Given the description of an element on the screen output the (x, y) to click on. 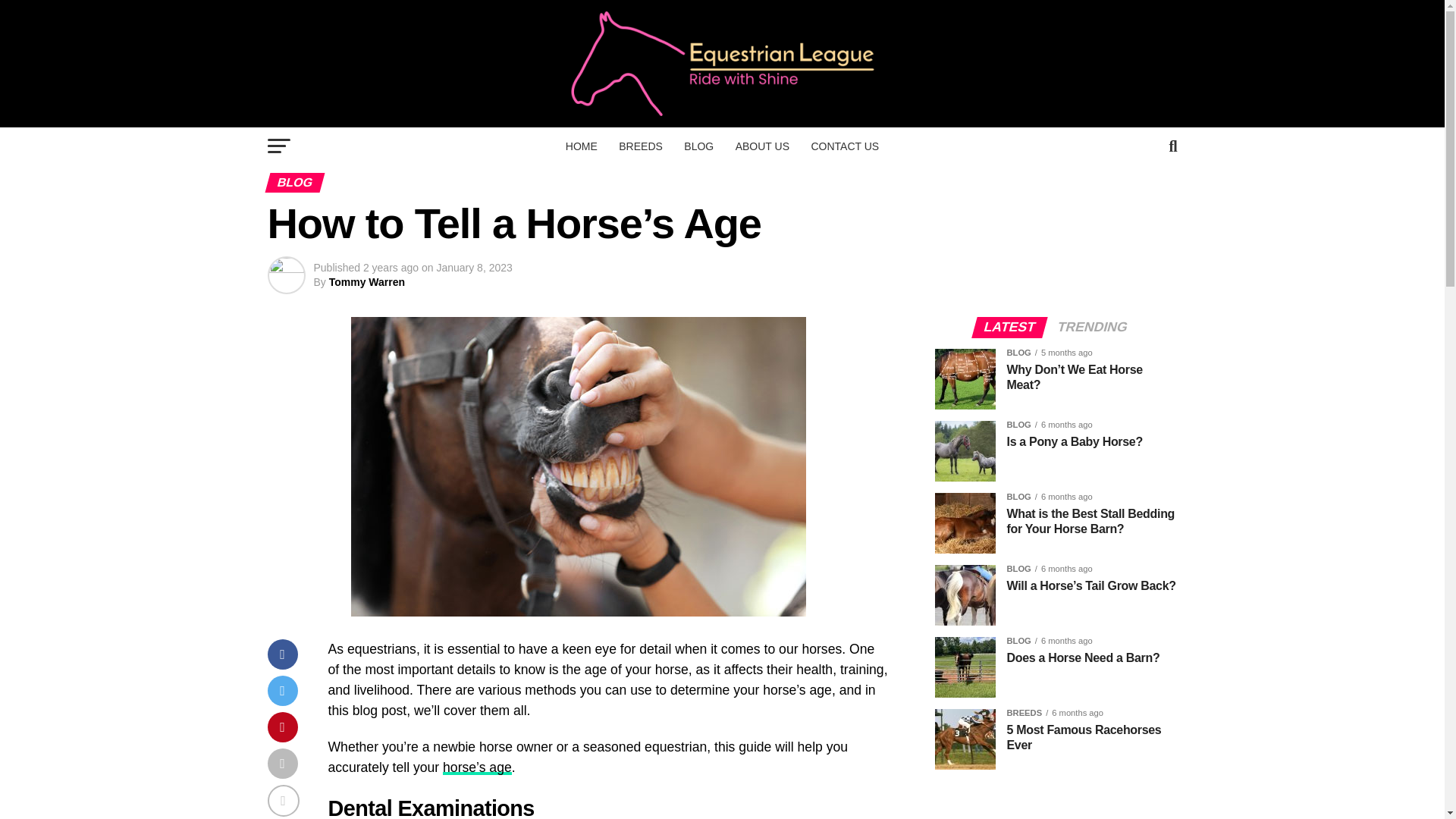
BREEDS (640, 146)
LATEST (1009, 327)
ABOUT US (761, 146)
HOME (581, 146)
Posts by Tommy Warren (366, 282)
TRENDING (1092, 327)
Tommy Warren (366, 282)
BLOG (698, 146)
CONTACT US (845, 146)
